Given the description of an element on the screen output the (x, y) to click on. 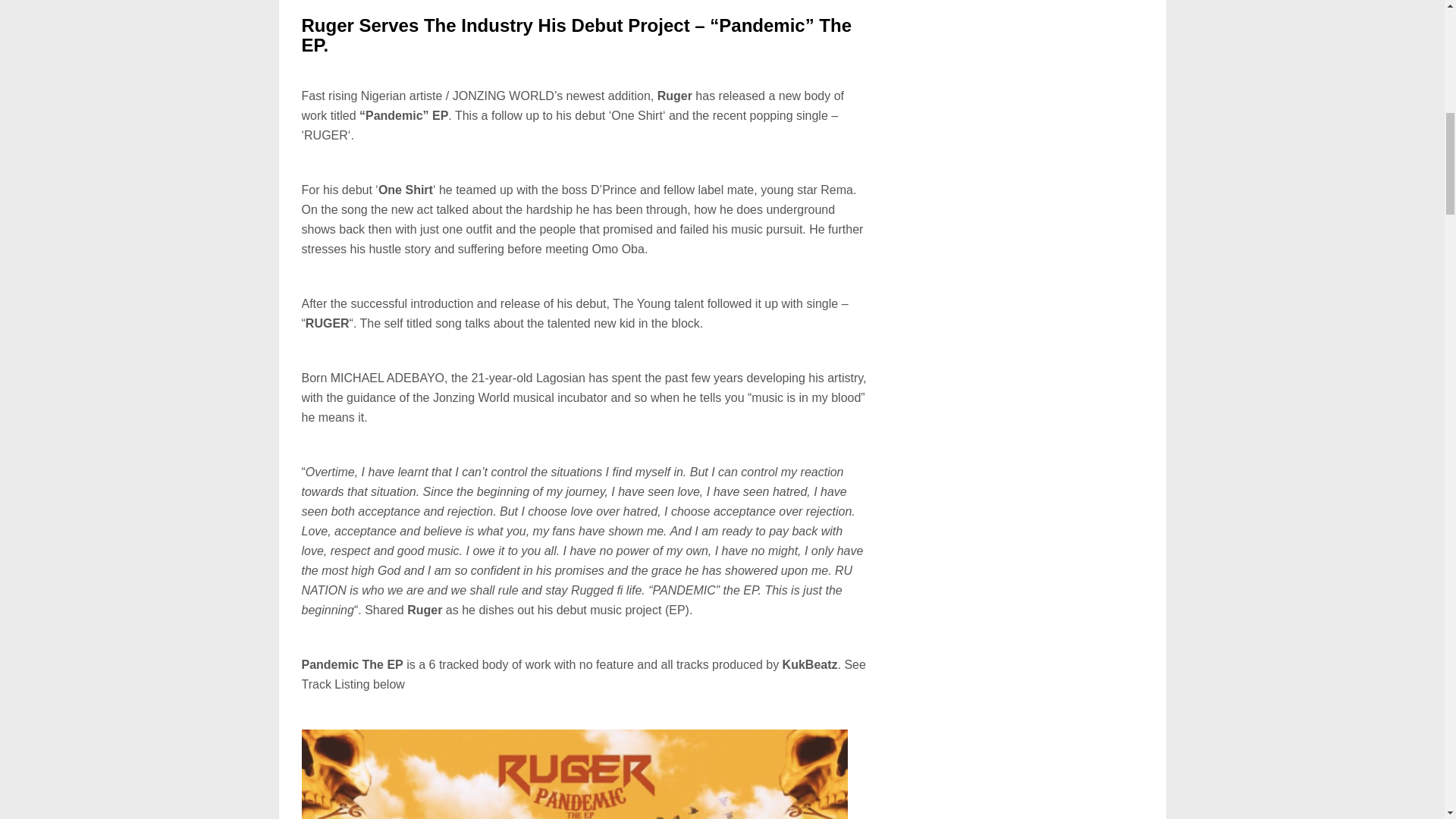
One Shirt (636, 115)
RUGER (325, 134)
